Given the description of an element on the screen output the (x, y) to click on. 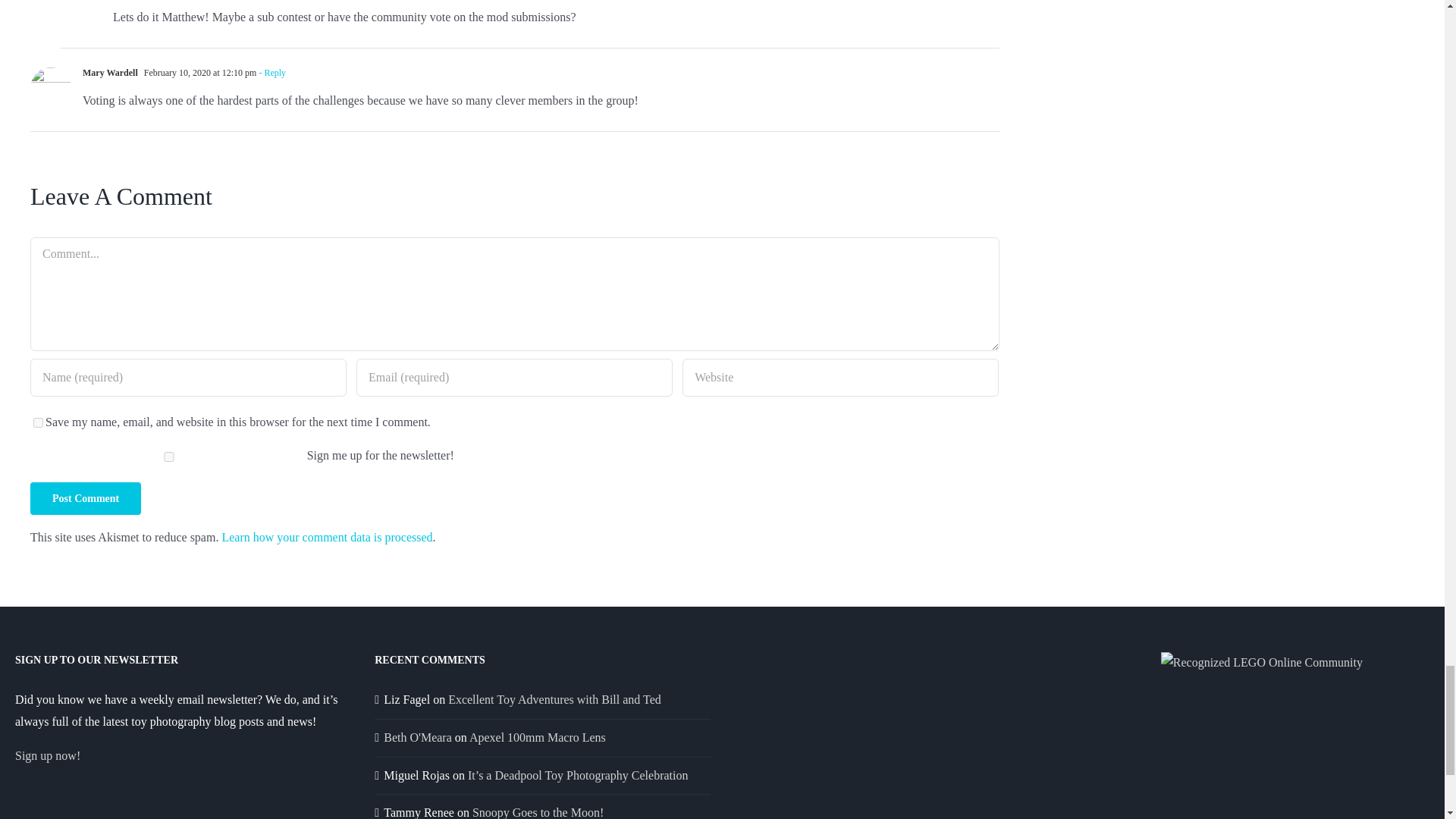
1 (168, 456)
yes (38, 422)
Post Comment (85, 498)
